Given the description of an element on the screen output the (x, y) to click on. 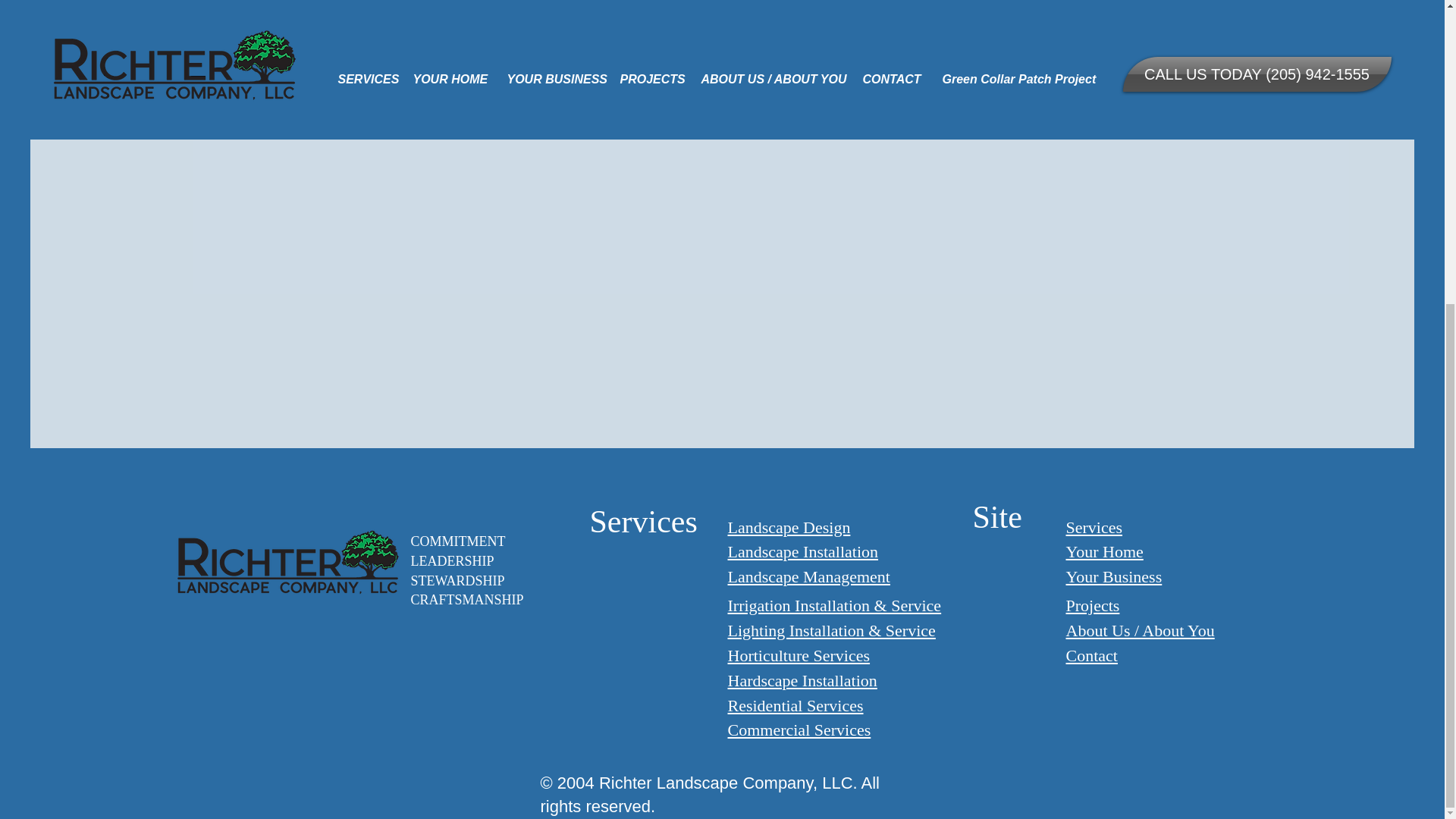
Services (1093, 527)
Hardscape Installation (802, 680)
Projects (1092, 605)
Your Business (1113, 576)
Landscape Management (808, 576)
Your Home (1103, 551)
Landscape Installation (803, 551)
Contact (1091, 655)
Horticulture Services (799, 655)
Residential Services (795, 705)
Commercial Services (799, 729)
Landscape Design (789, 527)
